Given the description of an element on the screen output the (x, y) to click on. 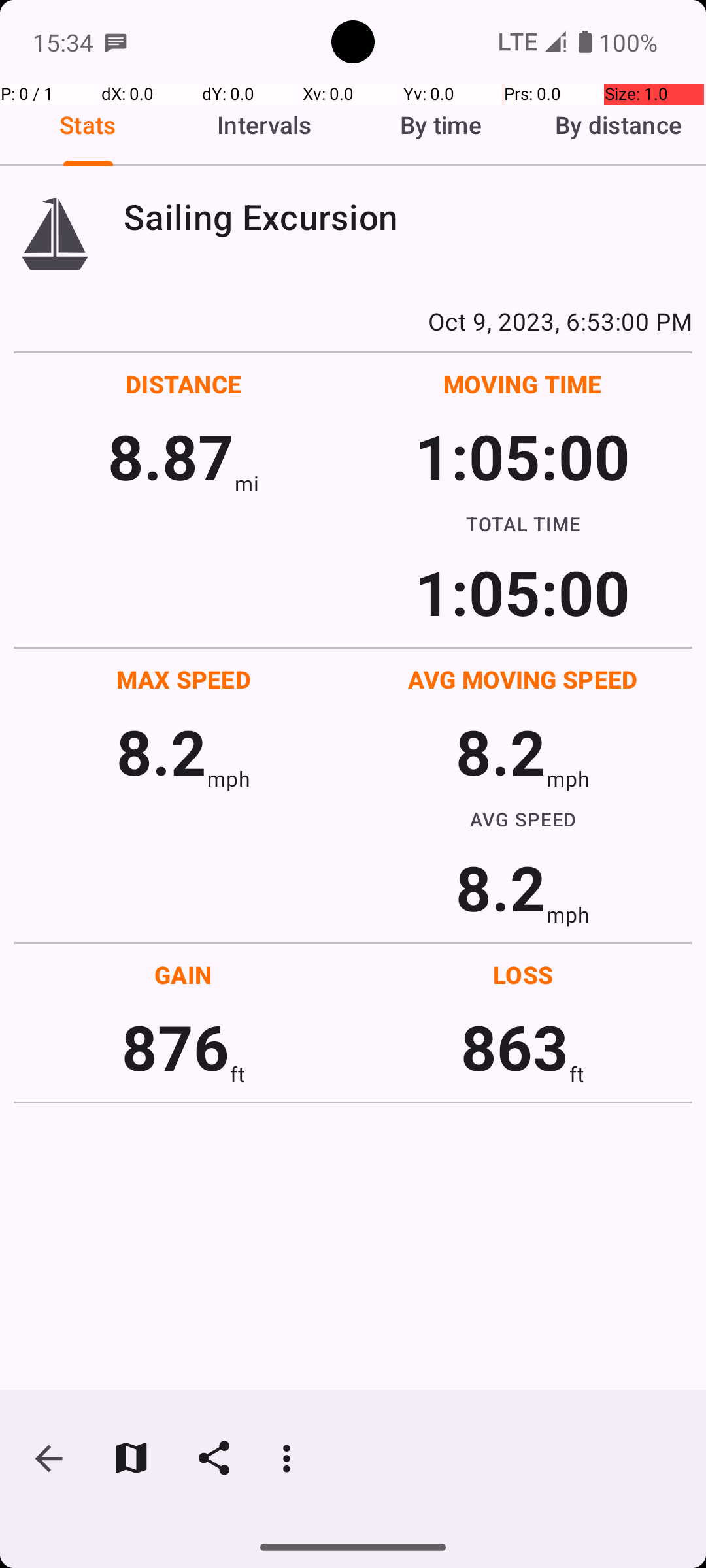
Sailing Excursion Element type: android.widget.TextView (407, 216)
Oct 9, 2023, 6:53:00 PM Element type: android.widget.TextView (352, 320)
8.87 Element type: android.widget.TextView (170, 455)
1:05:00 Element type: android.widget.TextView (522, 455)
8.2 Element type: android.widget.TextView (161, 750)
876 Element type: android.widget.TextView (175, 1045)
863 Element type: android.widget.TextView (514, 1045)
